Given the description of an element on the screen output the (x, y) to click on. 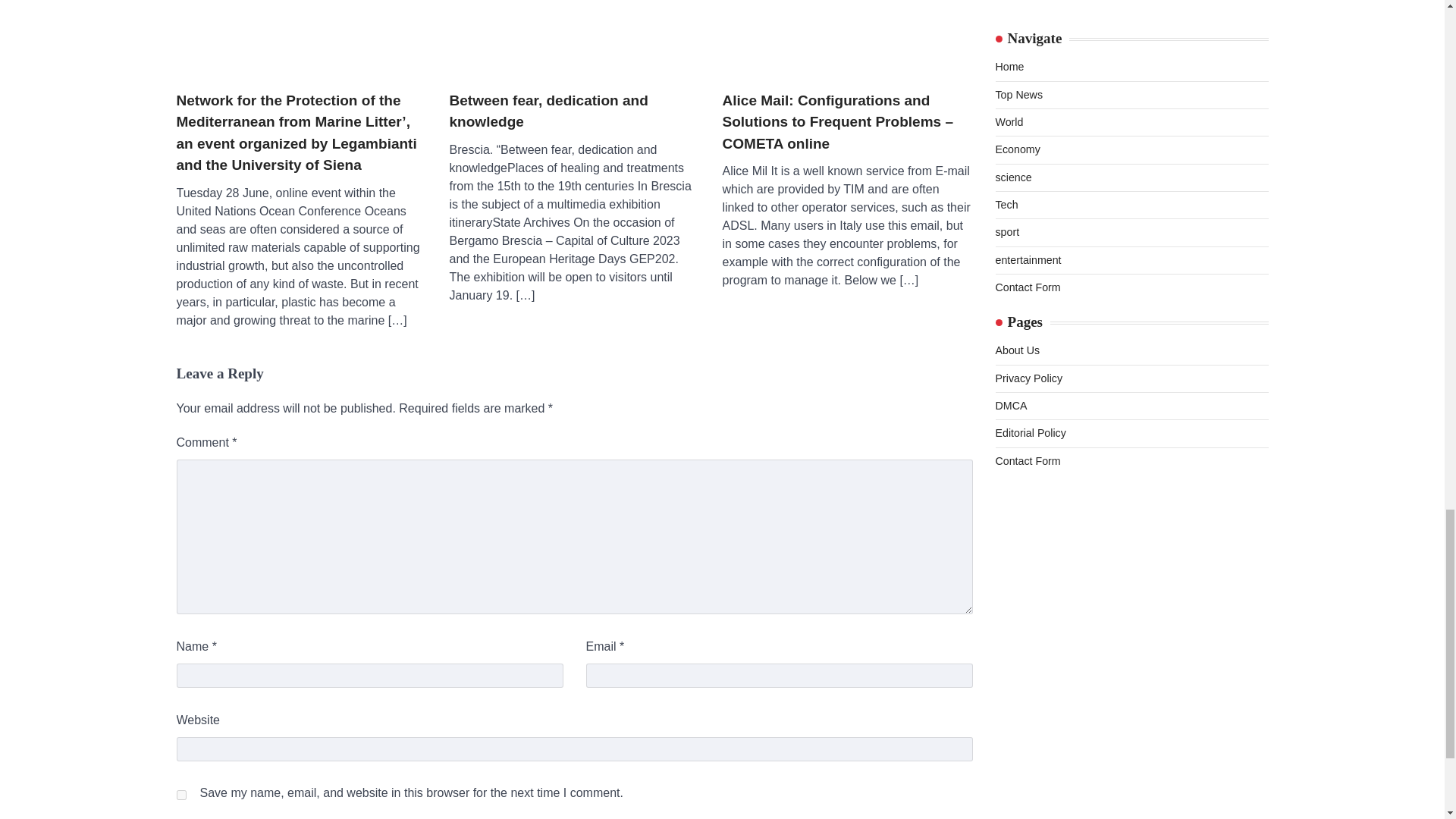
Between fear, dedication and knowledge (573, 37)
Between fear, dedication and knowledge (573, 111)
yes (181, 795)
